Given the description of an element on the screen output the (x, y) to click on. 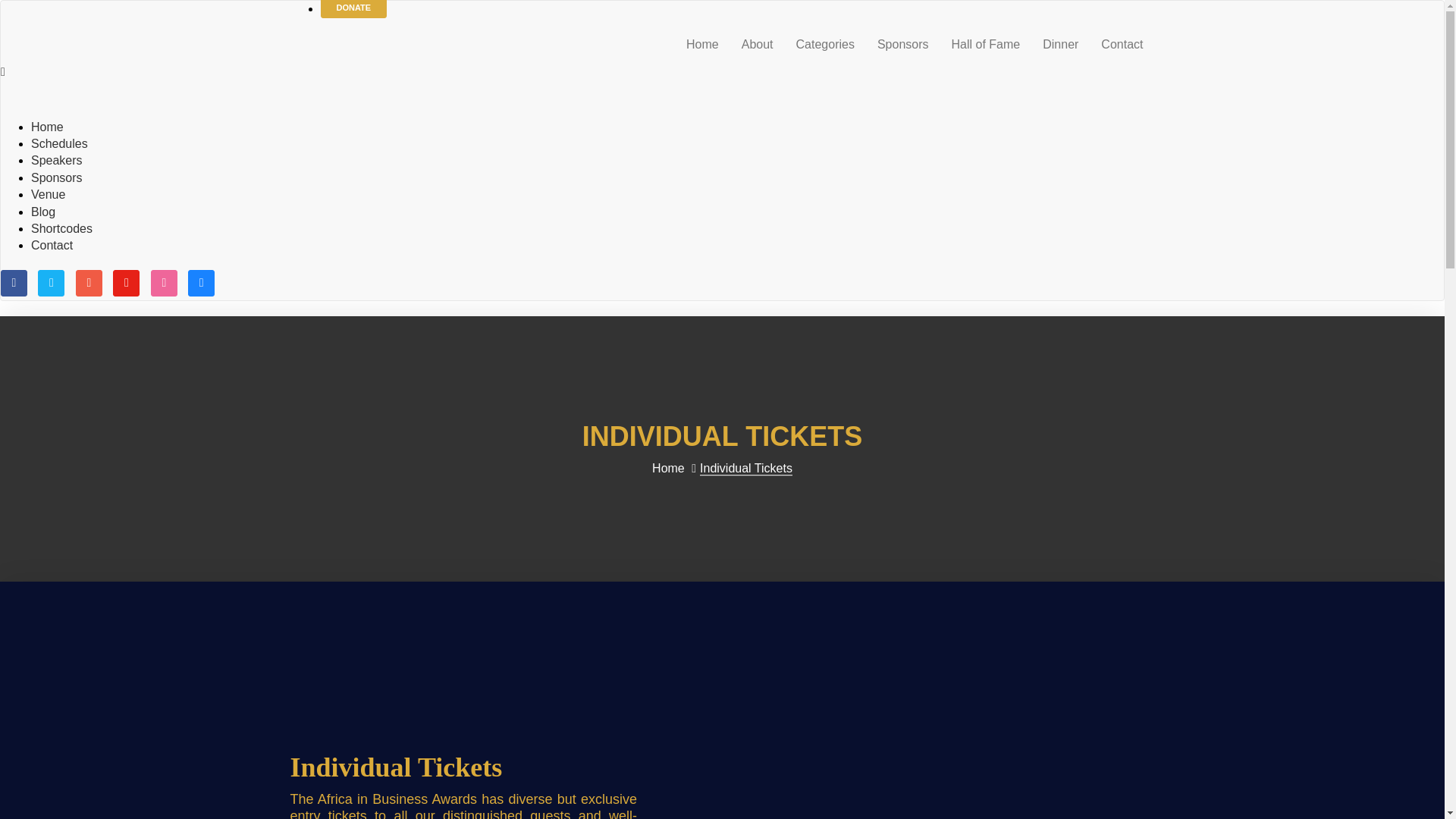
Schedules (58, 143)
Home (702, 44)
Venue (47, 194)
Shortcodes (61, 228)
DONATE (353, 8)
Dinner (1059, 44)
Home (668, 468)
Speakers (56, 160)
Contact (1121, 44)
Sponsors (56, 177)
Home (47, 126)
Hall of Fame (986, 44)
About (757, 44)
Contact (51, 245)
Sponsors (903, 44)
